Given the description of an element on the screen output the (x, y) to click on. 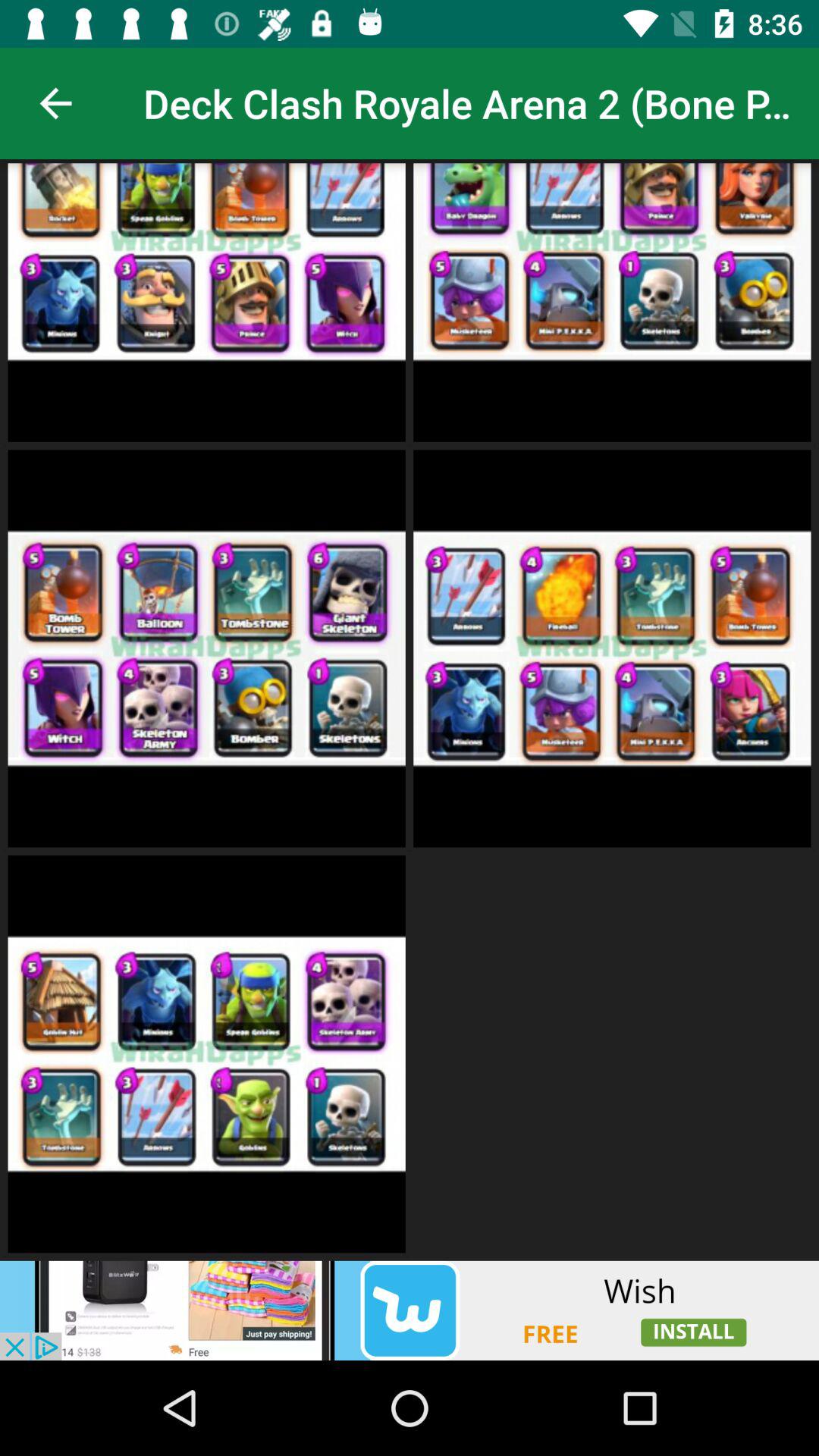
adding advertisement (409, 1310)
